Given the description of an element on the screen output the (x, y) to click on. 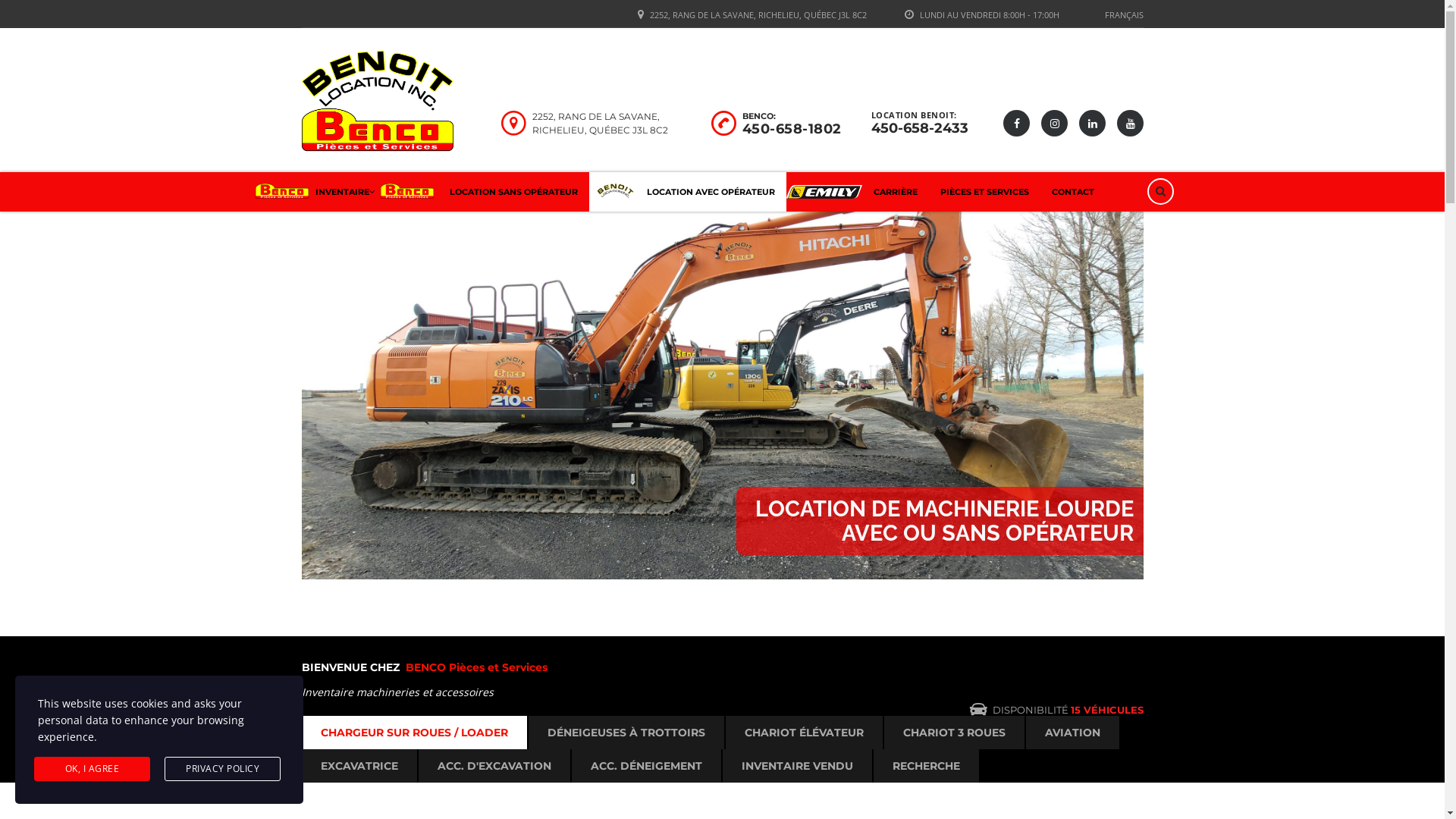
450-658-2433 Element type: text (918, 127)
PRIVACY POLICY Element type: text (222, 768)
INVENTAIRE VENDU Element type: text (796, 765)
450-658-1802 Element type: text (790, 128)
RECHERCHE Element type: text (926, 765)
Accueil Element type: hover (377, 101)
AVIATION Element type: text (1071, 732)
EXCAVATRICE Element type: text (359, 765)
CONTACT Element type: text (1072, 191)
OK, I AGREE Element type: text (92, 768)
INVENTAIRE Element type: text (316, 191)
CHARIOT 3 ROUES Element type: text (954, 732)
ACC. D'EXCAVATION Element type: text (494, 765)
CHARGEUR SUR ROUES / LOADER Element type: text (414, 732)
